Given the description of an element on the screen output the (x, y) to click on. 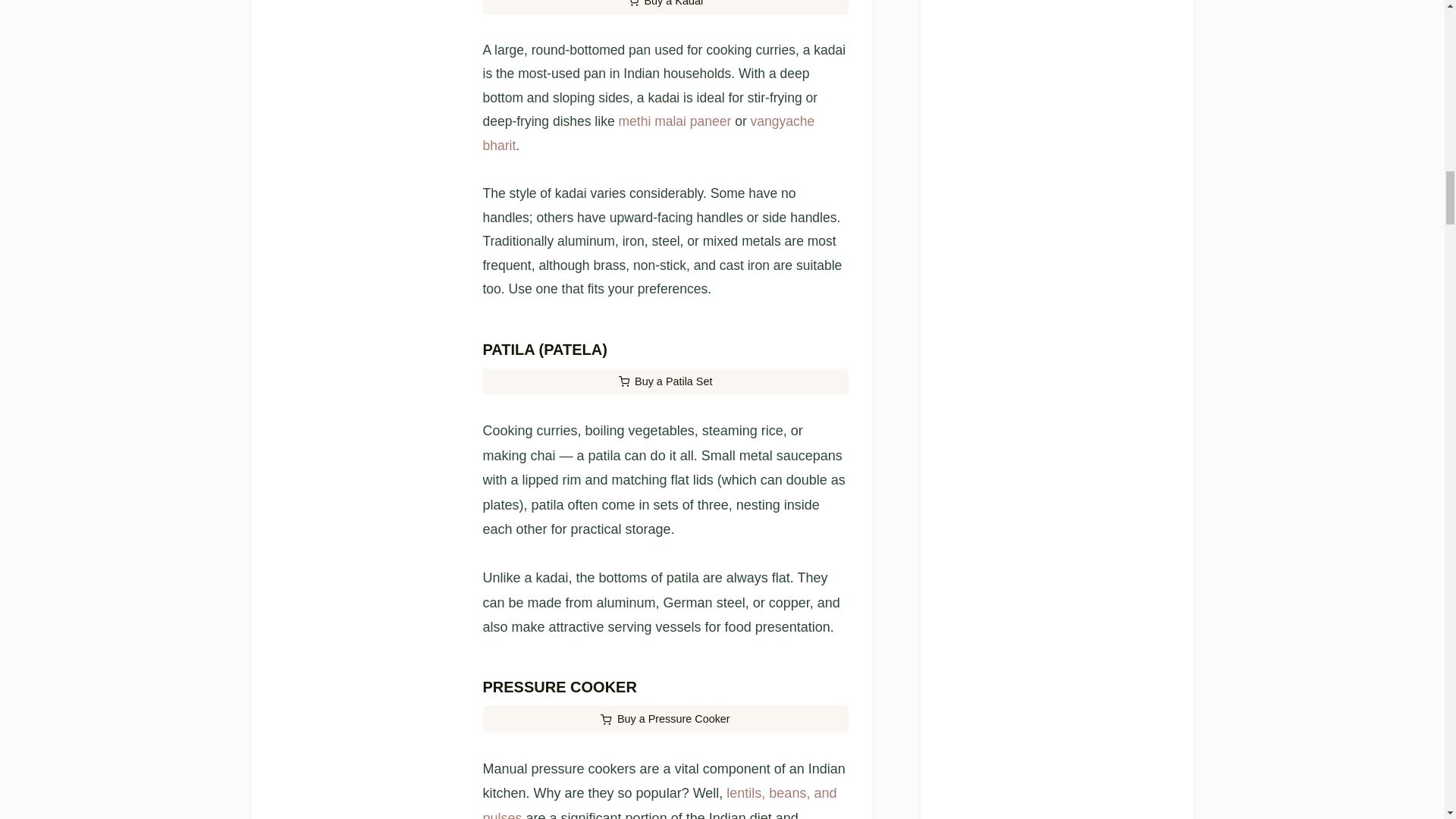
Buy a Kadai (664, 7)
vangyache bharit (647, 133)
methi malai paneer (673, 120)
Buy a Patila Set (664, 381)
